Given the description of an element on the screen output the (x, y) to click on. 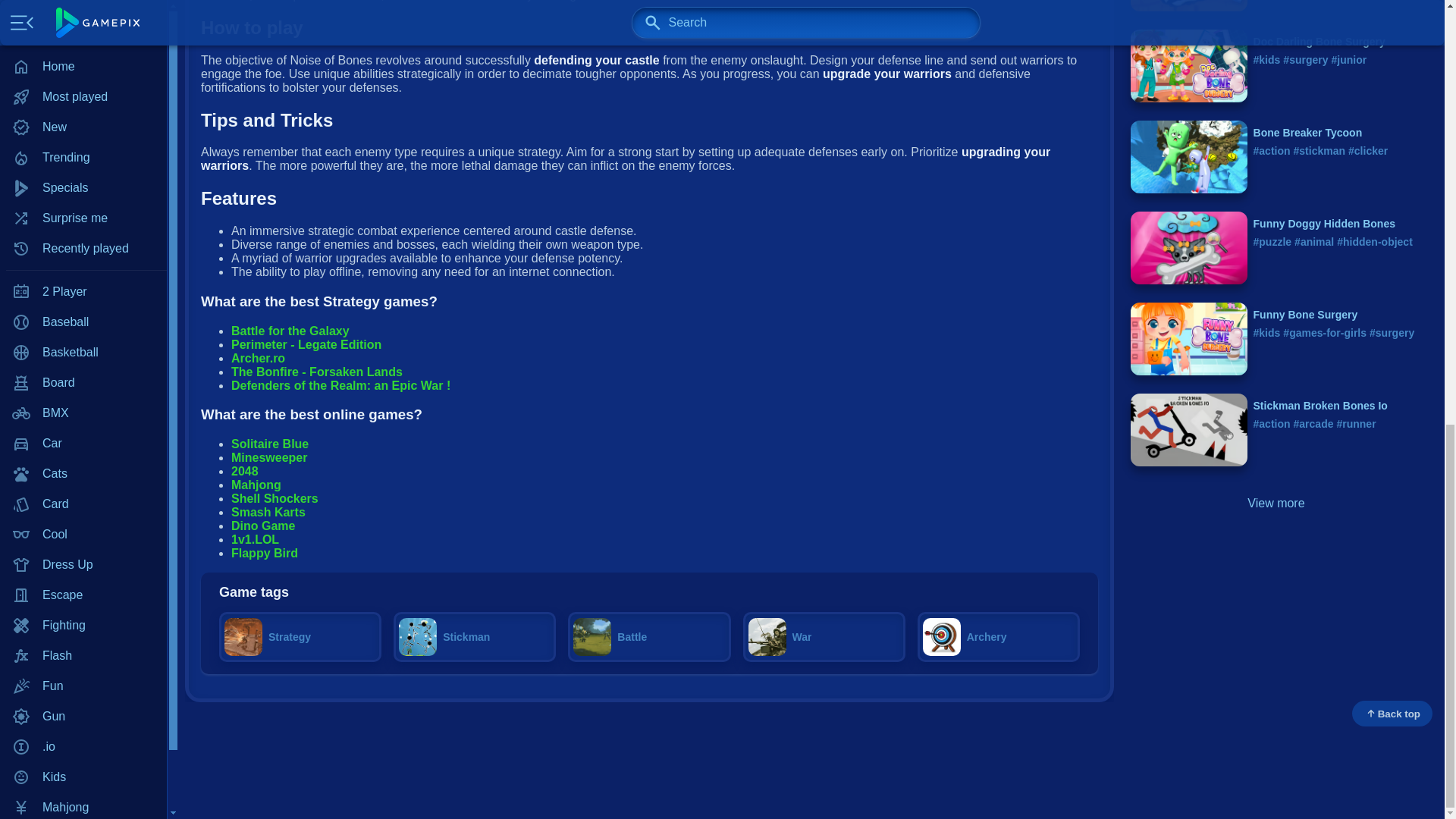
Racing (83, 73)
Soccer (83, 225)
Solitaire (83, 164)
Poker (83, 14)
Word (83, 286)
War (83, 255)
Shooter (83, 134)
Puzzle (83, 43)
Snake (83, 195)
Zombie (83, 317)
RPG (83, 104)
